Given the description of an element on the screen output the (x, y) to click on. 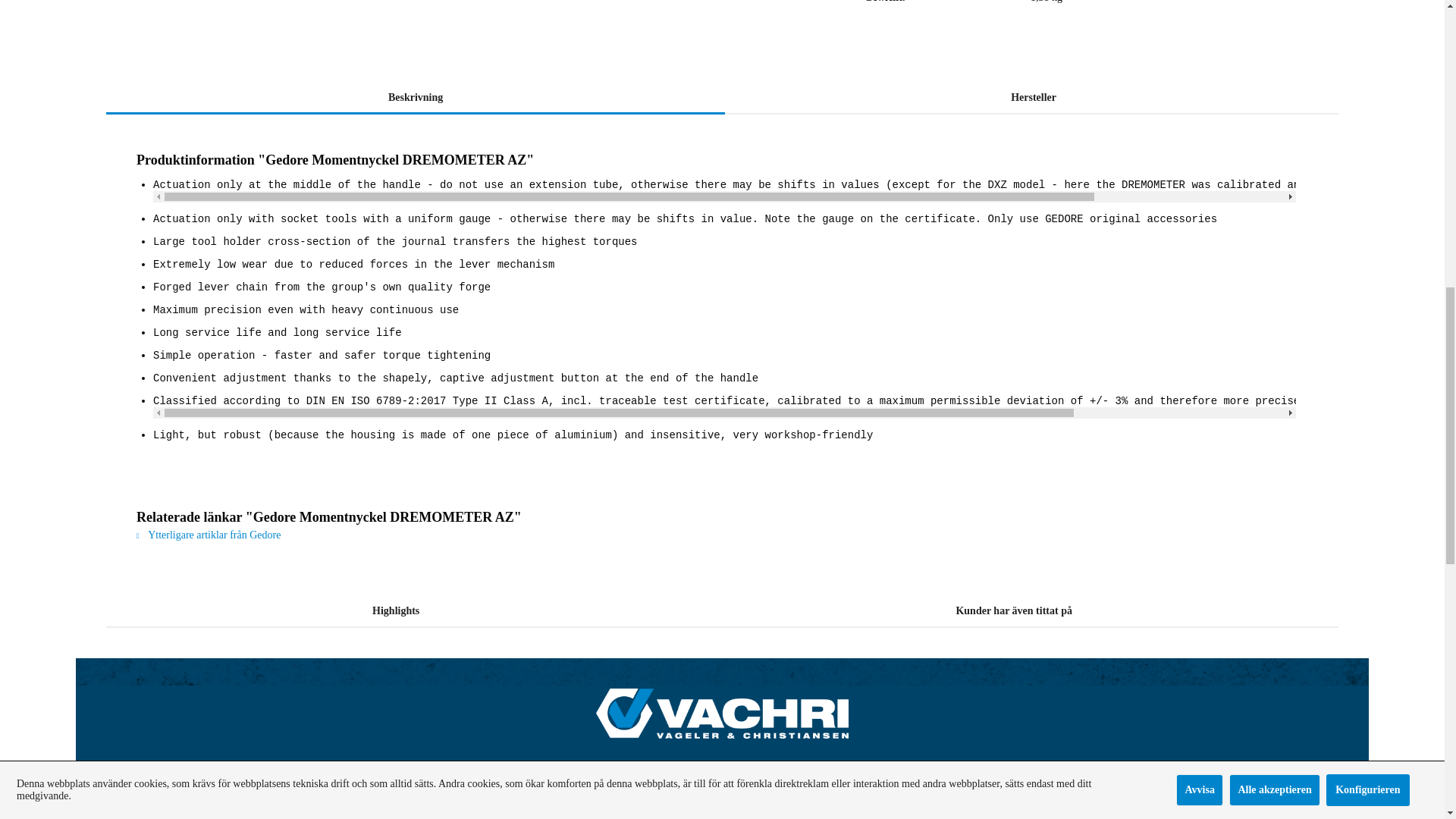
Beskrivning (722, 97)
Hersteller (415, 97)
